Given the description of an element on the screen output the (x, y) to click on. 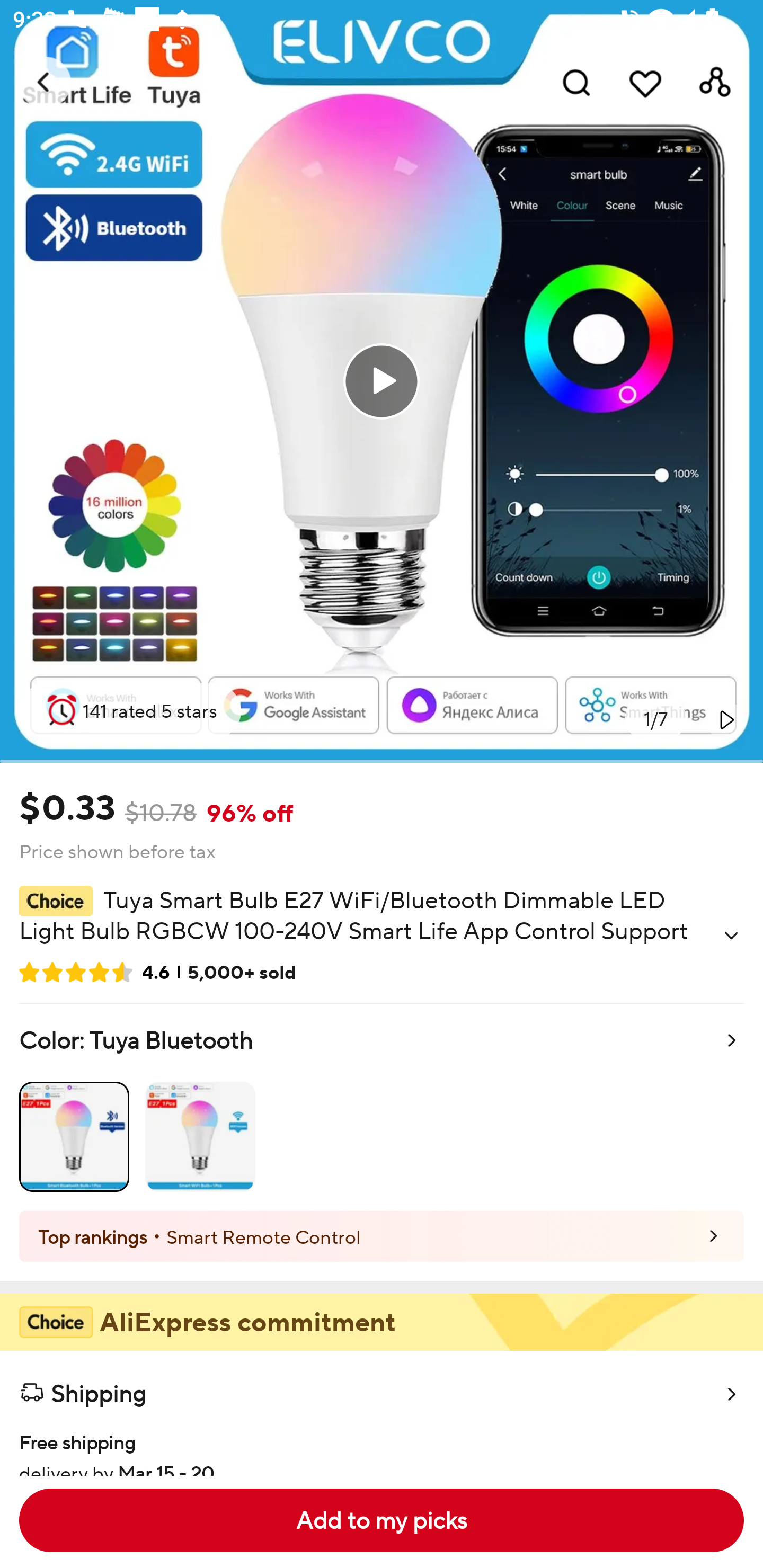
0.0 (381, 381)
Navigate up (44, 82)
 (724, 719)
 (730, 935)
Color: Tuya Bluetooth  (381, 1106)
Shipping  Free shipping  delivery by Mar 15 - 20  (381, 1412)
Free shipping  delivery by Mar 15 - 20  (381, 1444)
Add to my picks (381, 1520)
